Given the description of an element on the screen output the (x, y) to click on. 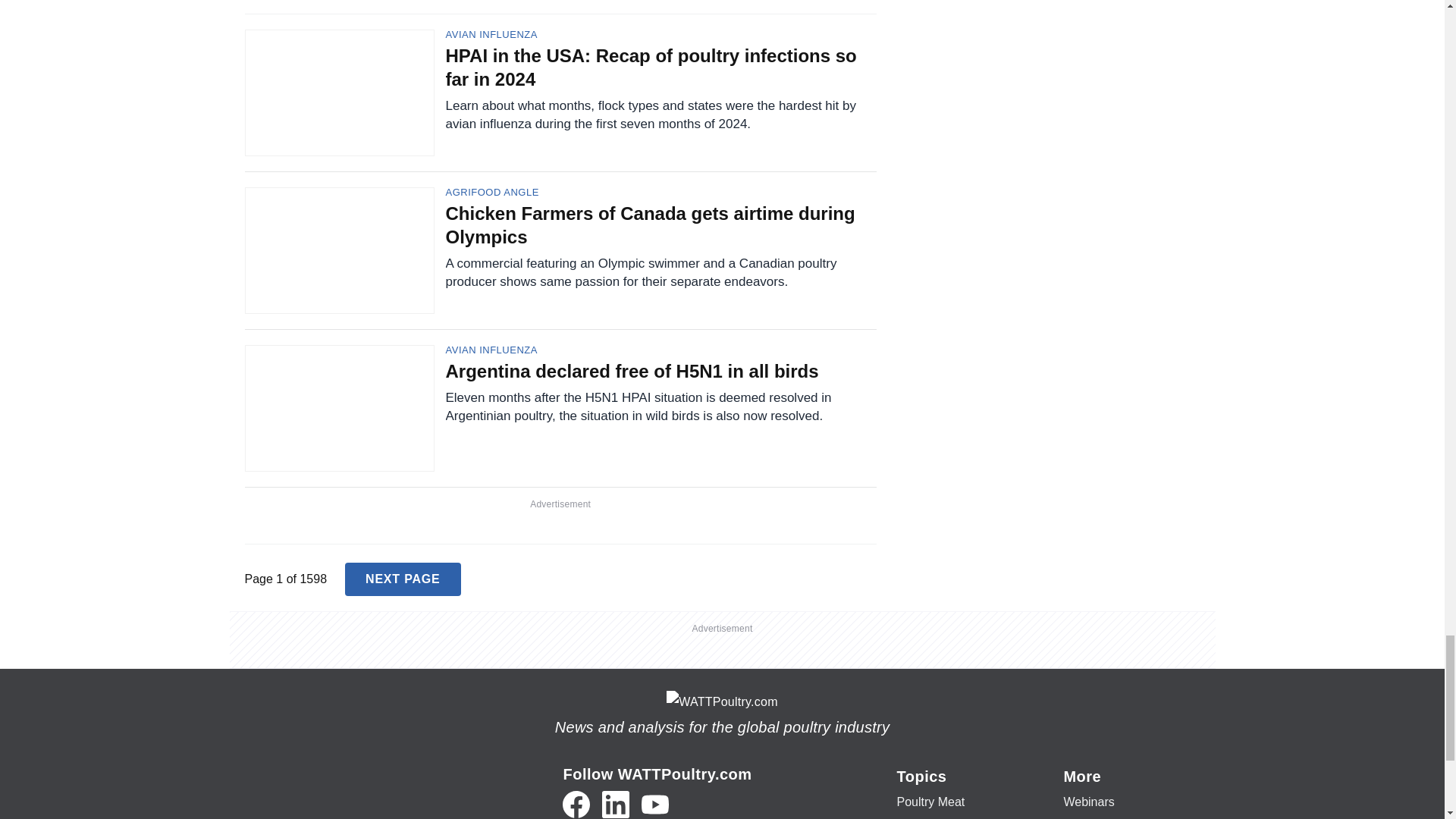
Facebook icon (575, 804)
LinkedIn icon (615, 804)
YouTube icon (655, 804)
